Given the description of an element on the screen output the (x, y) to click on. 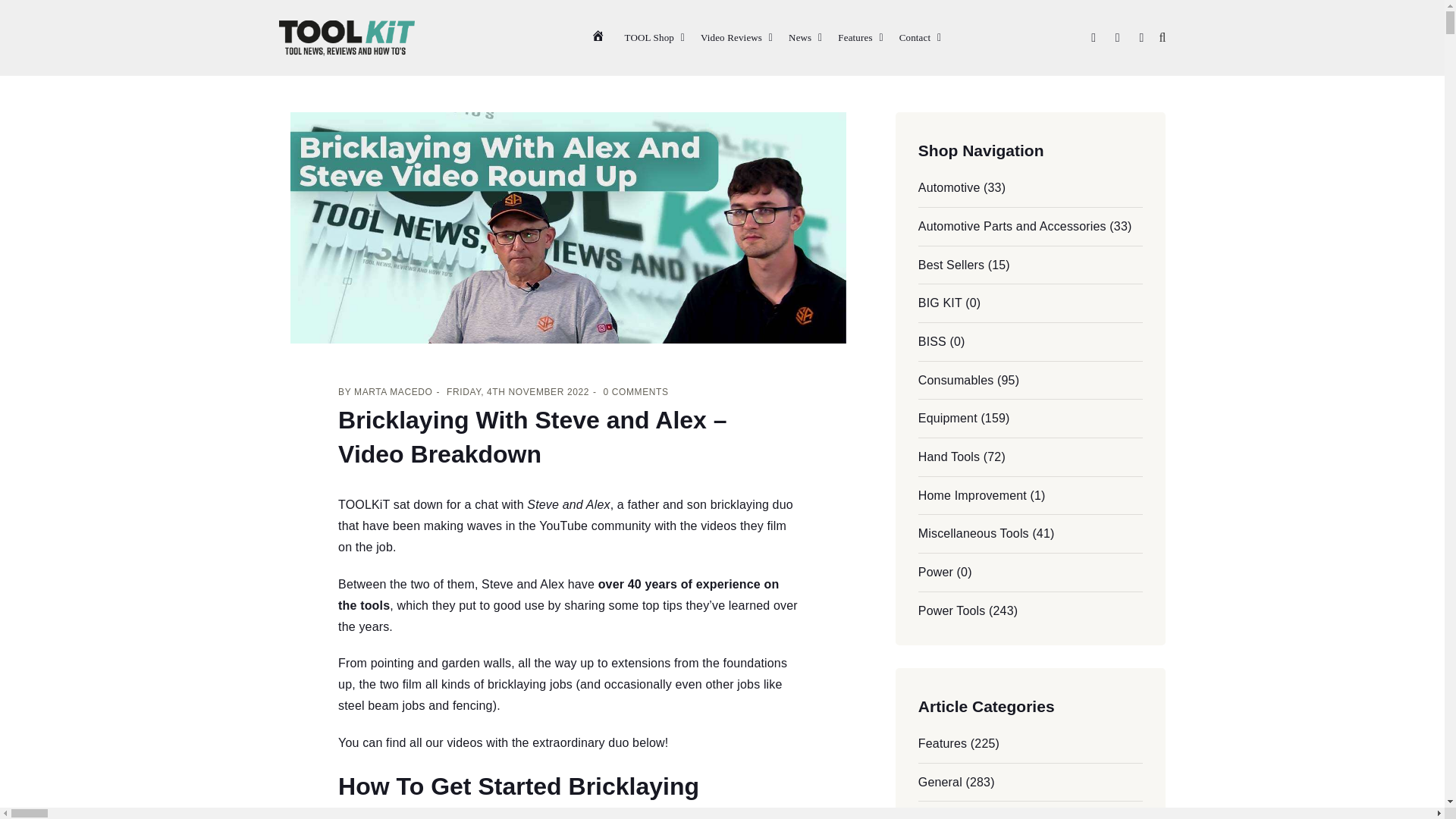
TOOL Shop (655, 38)
Video Reviews (736, 38)
News (804, 38)
Features (860, 38)
